Given the description of an element on the screen output the (x, y) to click on. 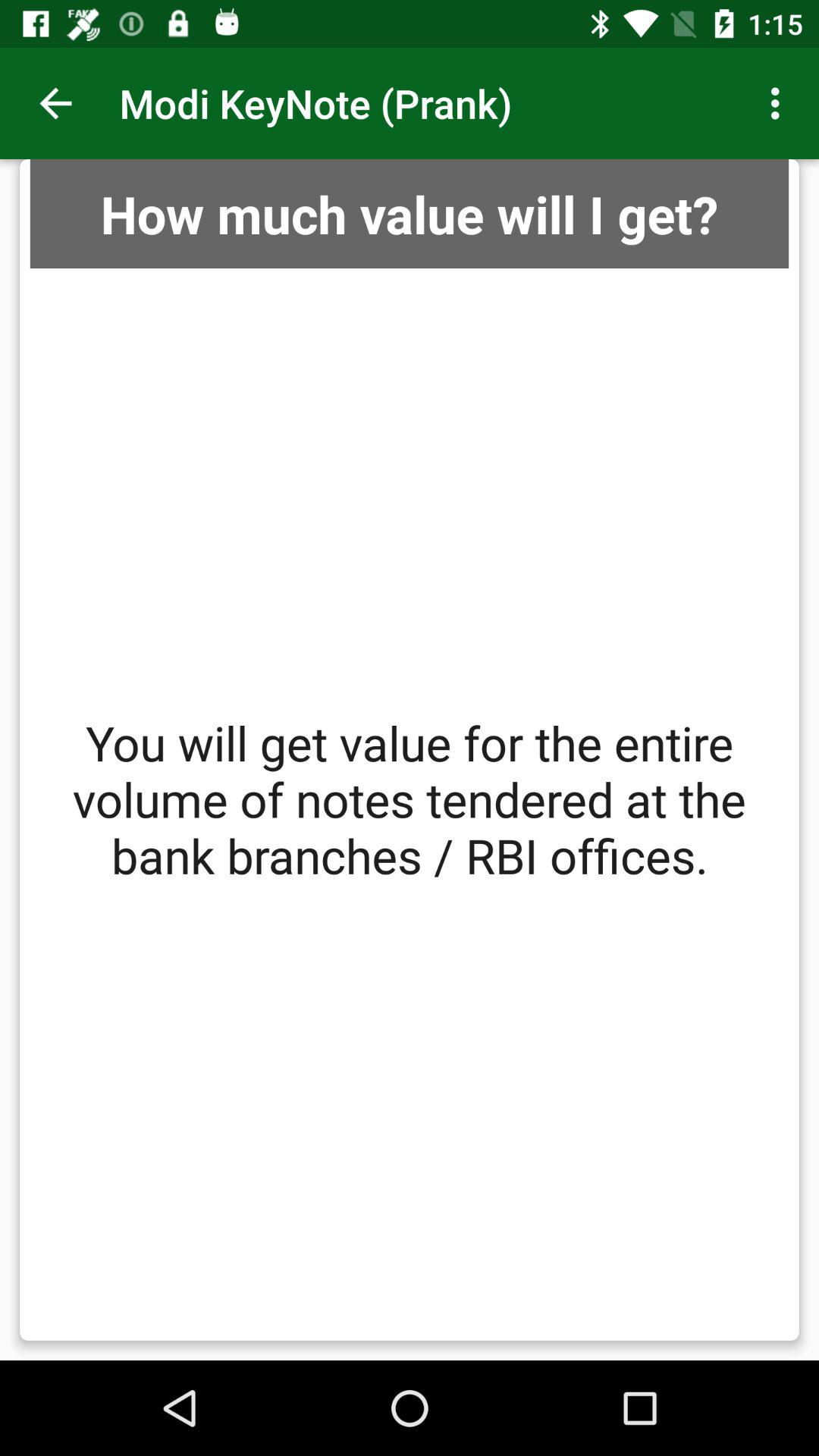
turn on the app next to the modi keynote (prank) icon (55, 103)
